Given the description of an element on the screen output the (x, y) to click on. 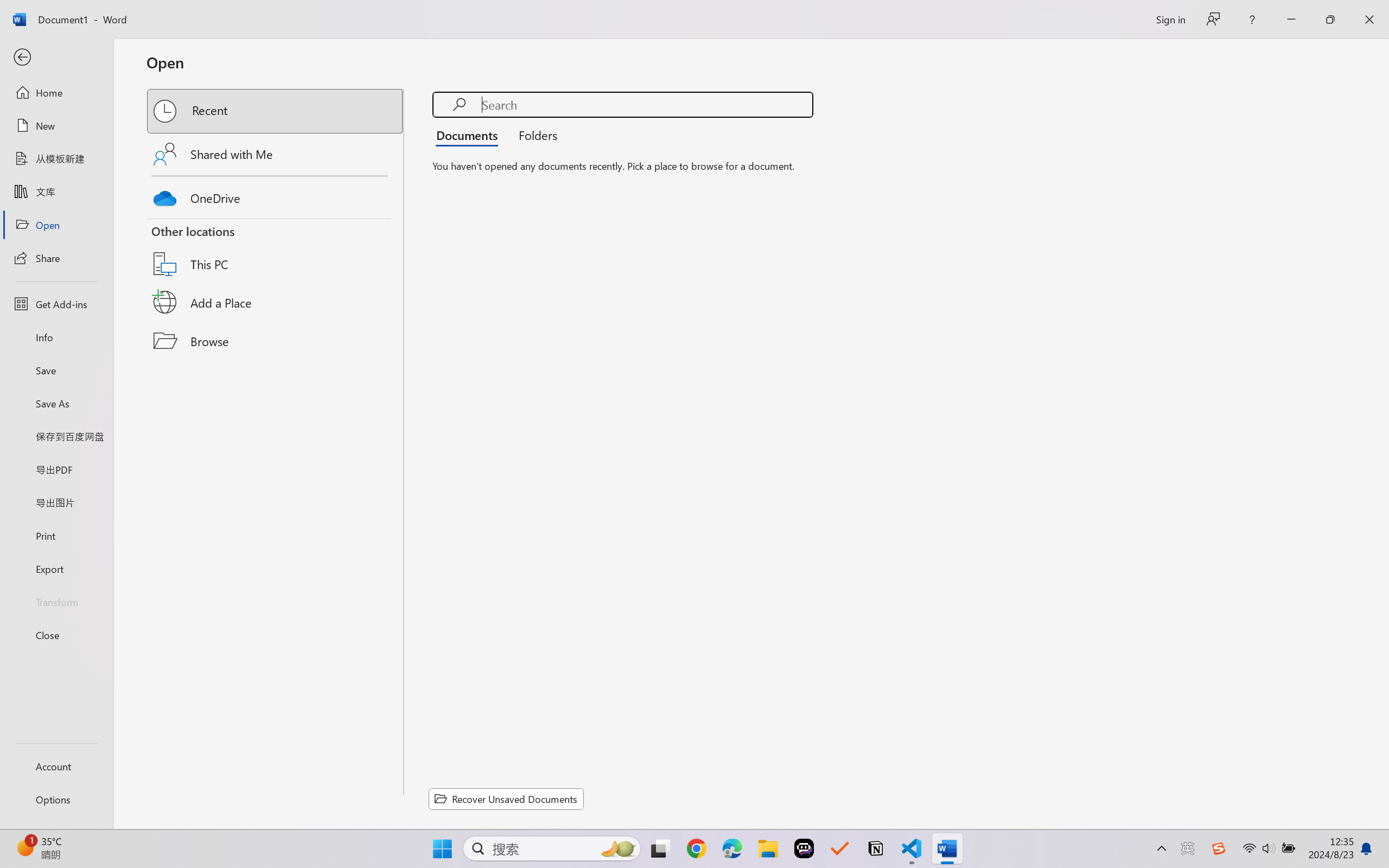
Account (56, 765)
Folders (534, 134)
Options (56, 798)
Back (56, 57)
Print (56, 535)
Recover Unsaved Documents (506, 798)
OneDrive (275, 195)
Export (56, 568)
